Given the description of an element on the screen output the (x, y) to click on. 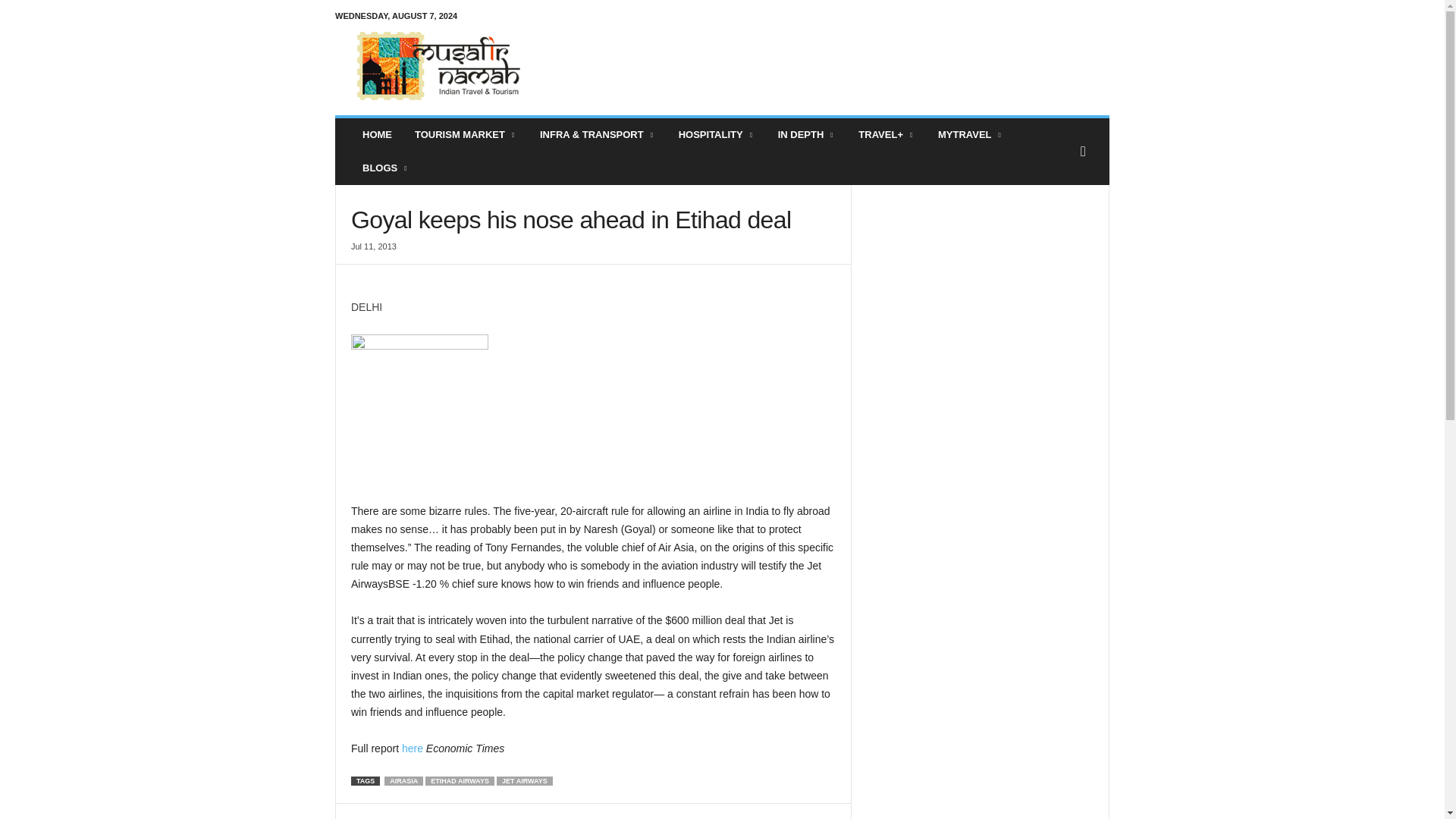
Blogs (385, 168)
Musafir Namah (438, 65)
